Given the description of an element on the screen output the (x, y) to click on. 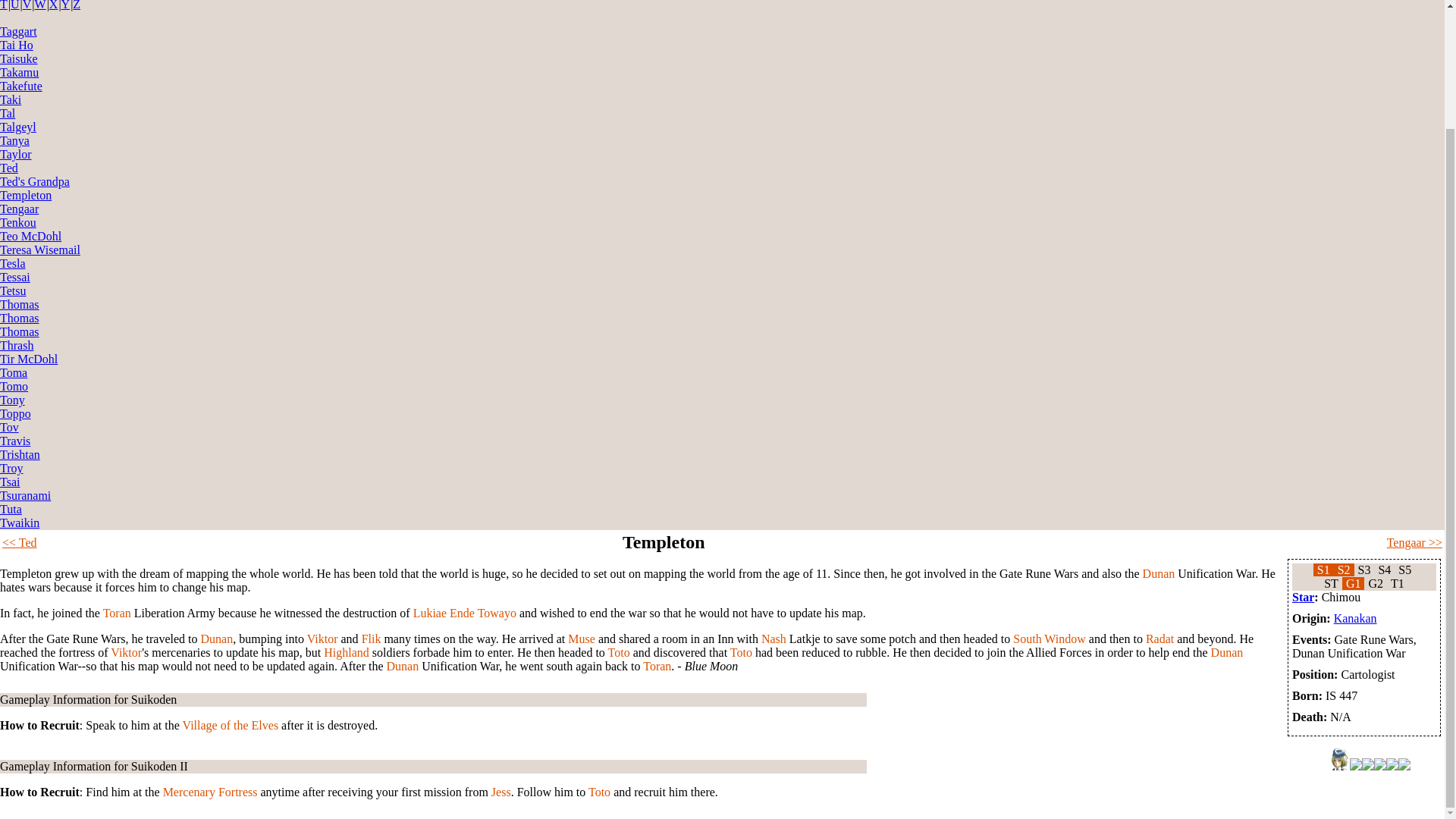
W (40, 5)
Taggart (18, 31)
Taisuke (18, 58)
Tai Ho (16, 44)
Takefute (21, 85)
Takamu (19, 72)
